Given the description of an element on the screen output the (x, y) to click on. 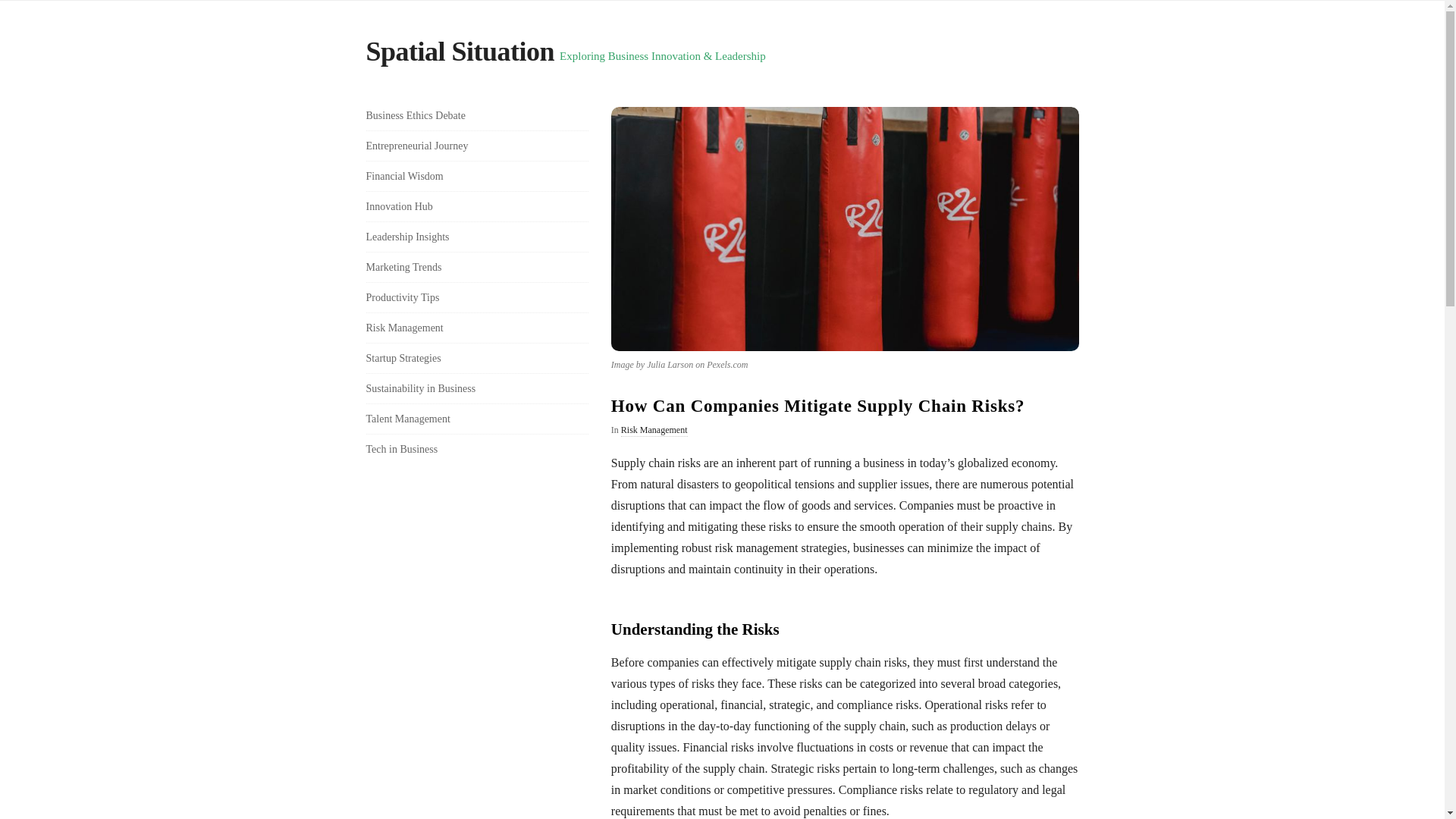
Risk Management (403, 327)
Sustainability in Business (420, 388)
Tech in Business (401, 449)
Startup Strategies (403, 357)
Marketing Trends (403, 266)
Talent Management (407, 419)
Business Ethics Debate (414, 115)
Leadership Insights (406, 236)
Spatial Situation (459, 55)
Spatial Situation (459, 55)
Productivity Tips (402, 297)
Risk Management (654, 430)
Innovation Hub (398, 206)
Financial Wisdom (403, 175)
Entrepreneurial Journey (416, 145)
